Given the description of an element on the screen output the (x, y) to click on. 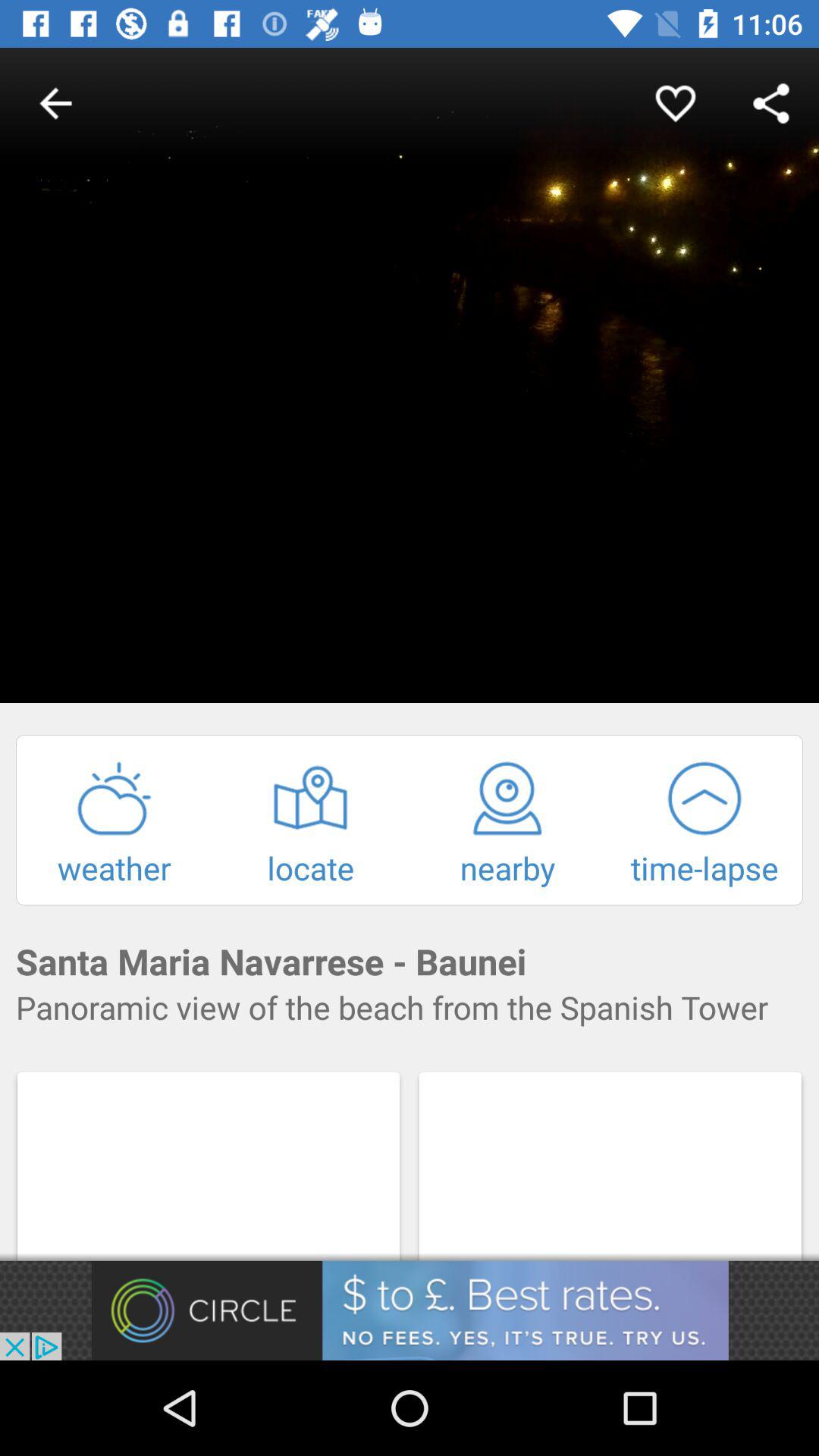
advertisement (409, 1310)
